Given the description of an element on the screen output the (x, y) to click on. 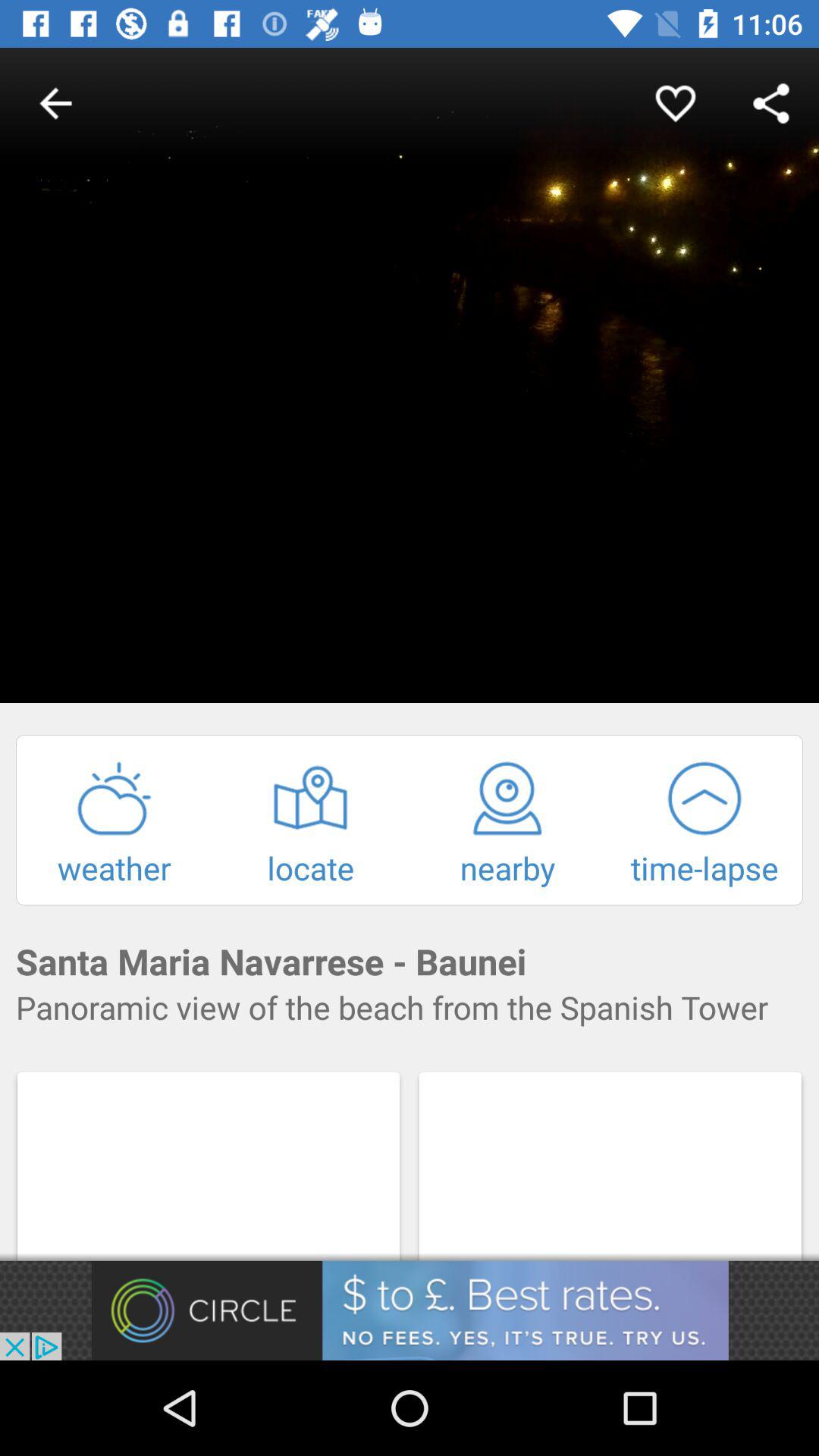
advertisement (409, 1310)
